Given the description of an element on the screen output the (x, y) to click on. 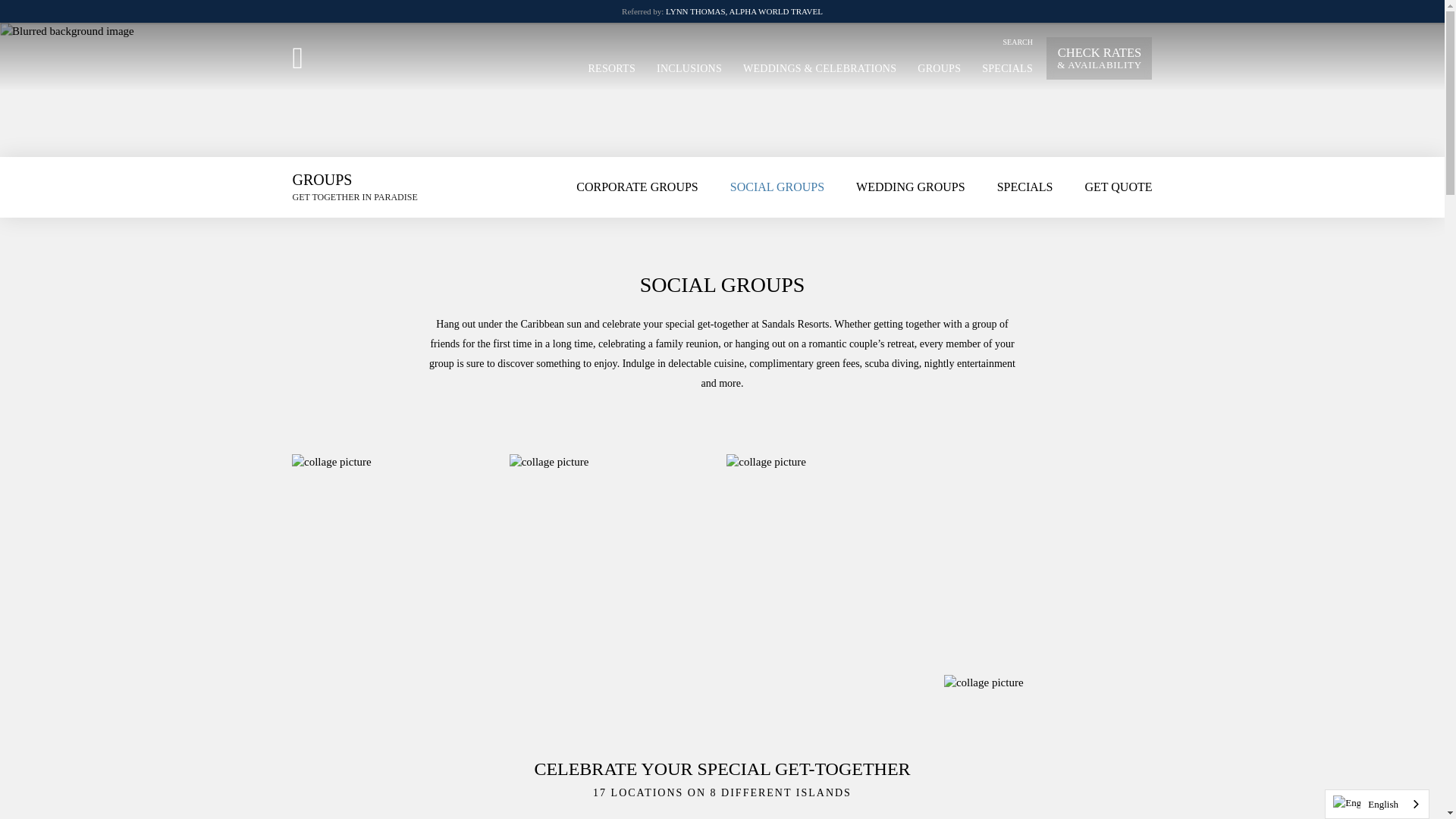
INCLUSIONS (689, 66)
SEARCH (1018, 40)
RESORTS (611, 66)
